Given the description of an element on the screen output the (x, y) to click on. 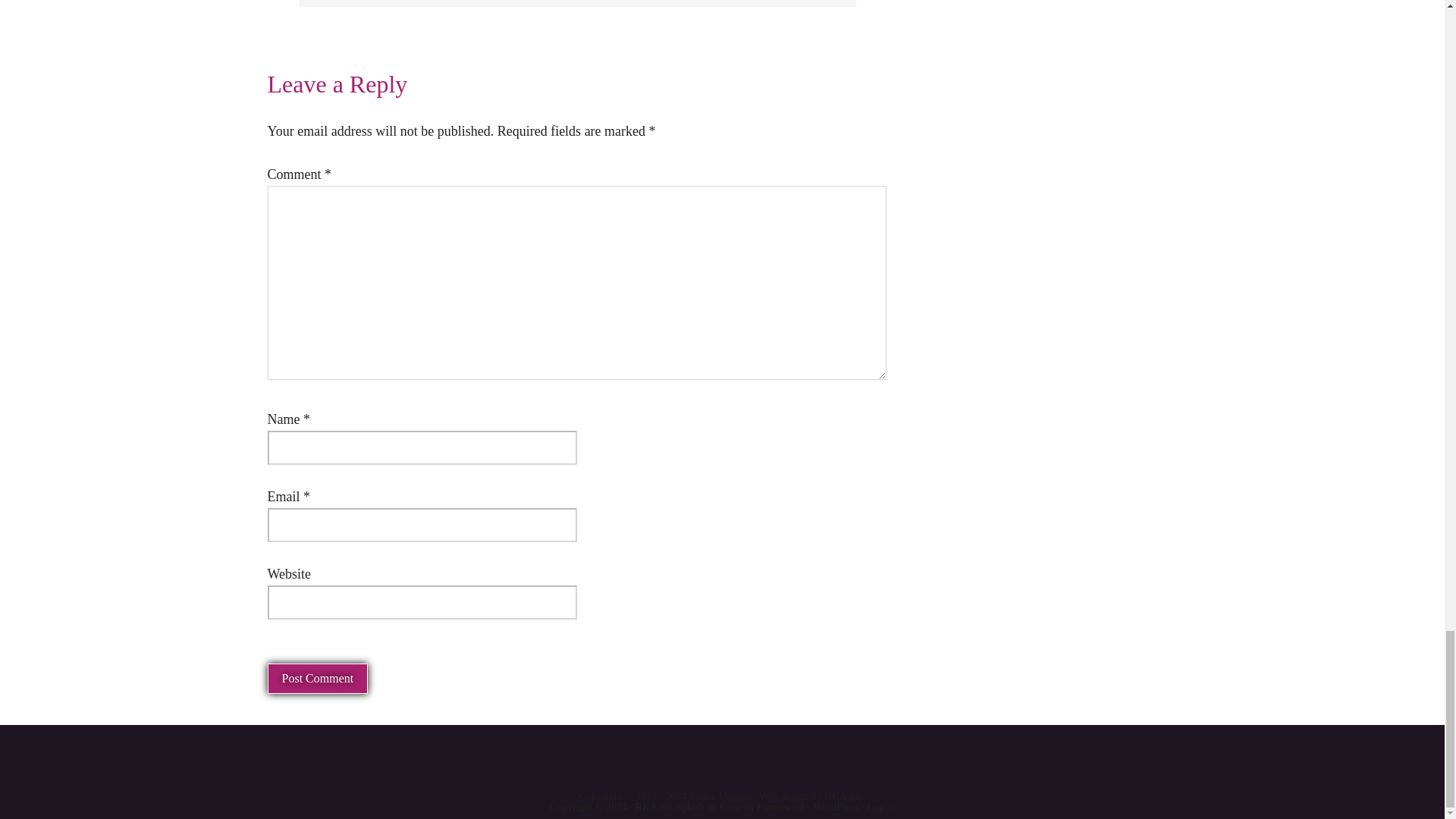
Post Comment (317, 678)
Post Comment (317, 678)
